Given the description of an element on the screen output the (x, y) to click on. 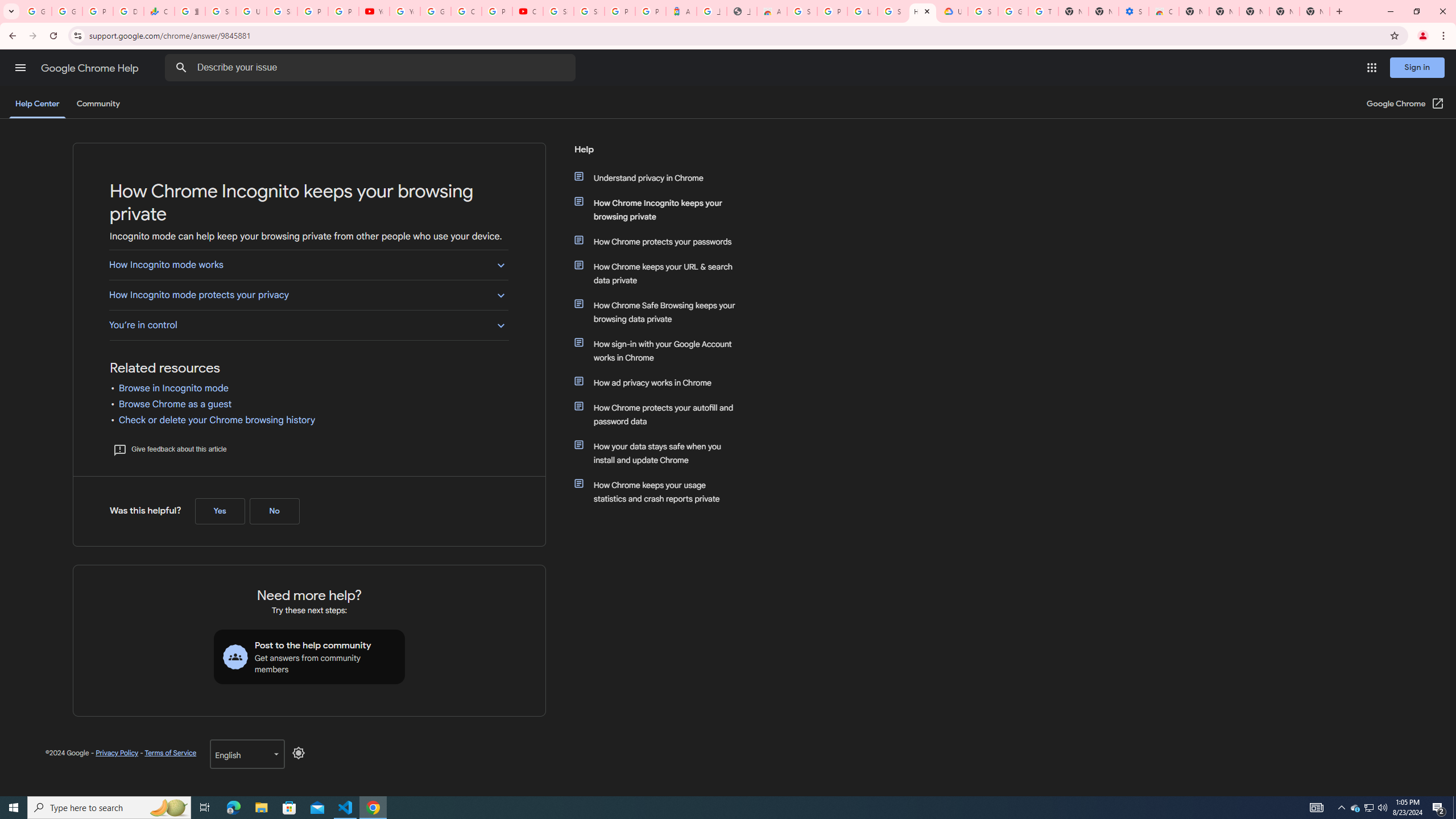
Turn cookies on or off - Computer - Google Account Help (1042, 11)
Content Creator Programs & Opportunities - YouTube Creators (527, 11)
New Tab (1254, 11)
Check or delete your Chrome browsing history (217, 419)
No (Was this helpful?) (273, 510)
Sign in - Google Accounts (982, 11)
Google Chrome (Open in a new window) (1404, 103)
How Incognito mode works (308, 264)
New Tab (1193, 11)
